Given the description of an element on the screen output the (x, y) to click on. 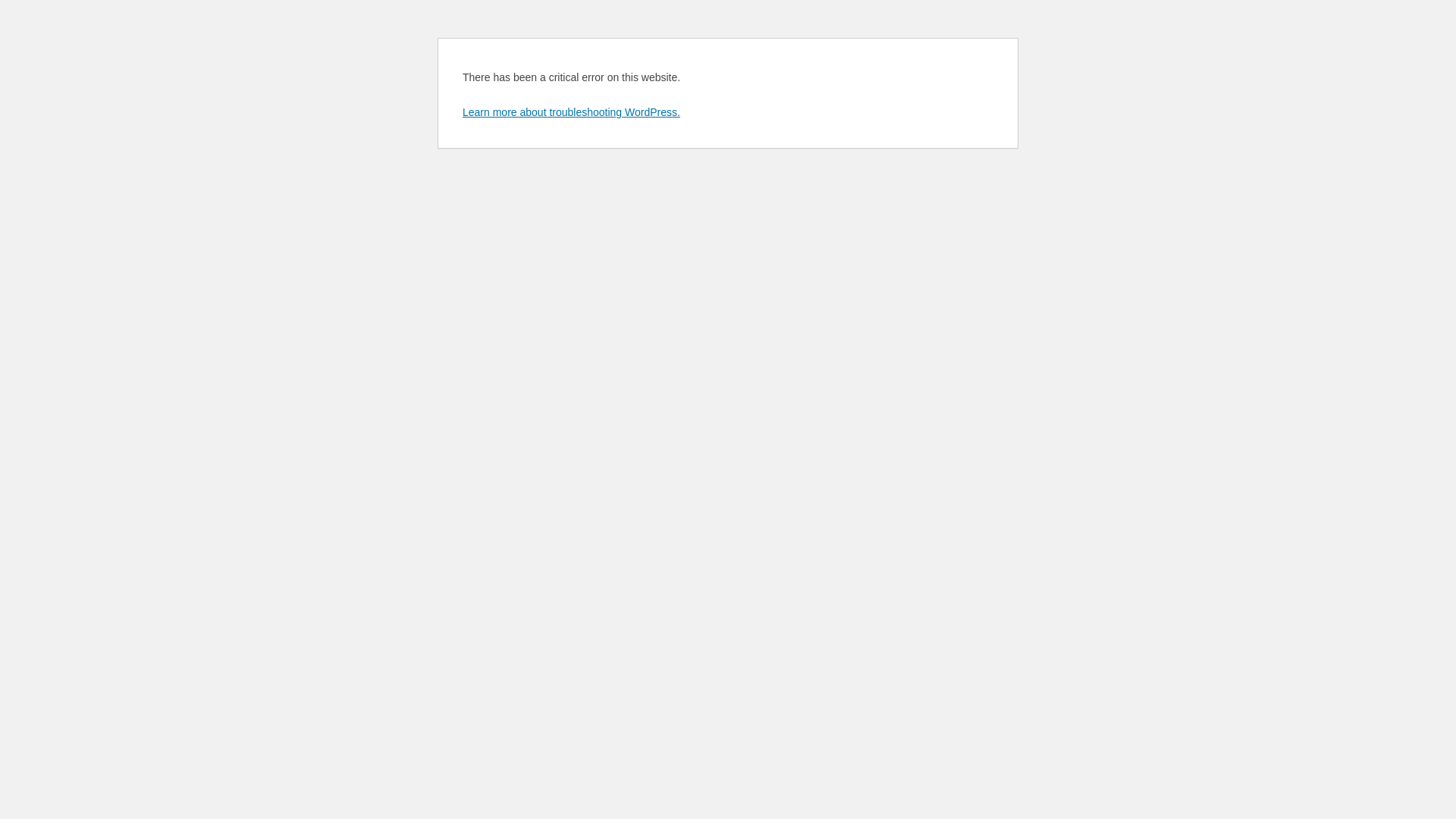
Learn more about troubleshooting WordPress. Element type: text (571, 112)
